Given the description of an element on the screen output the (x, y) to click on. 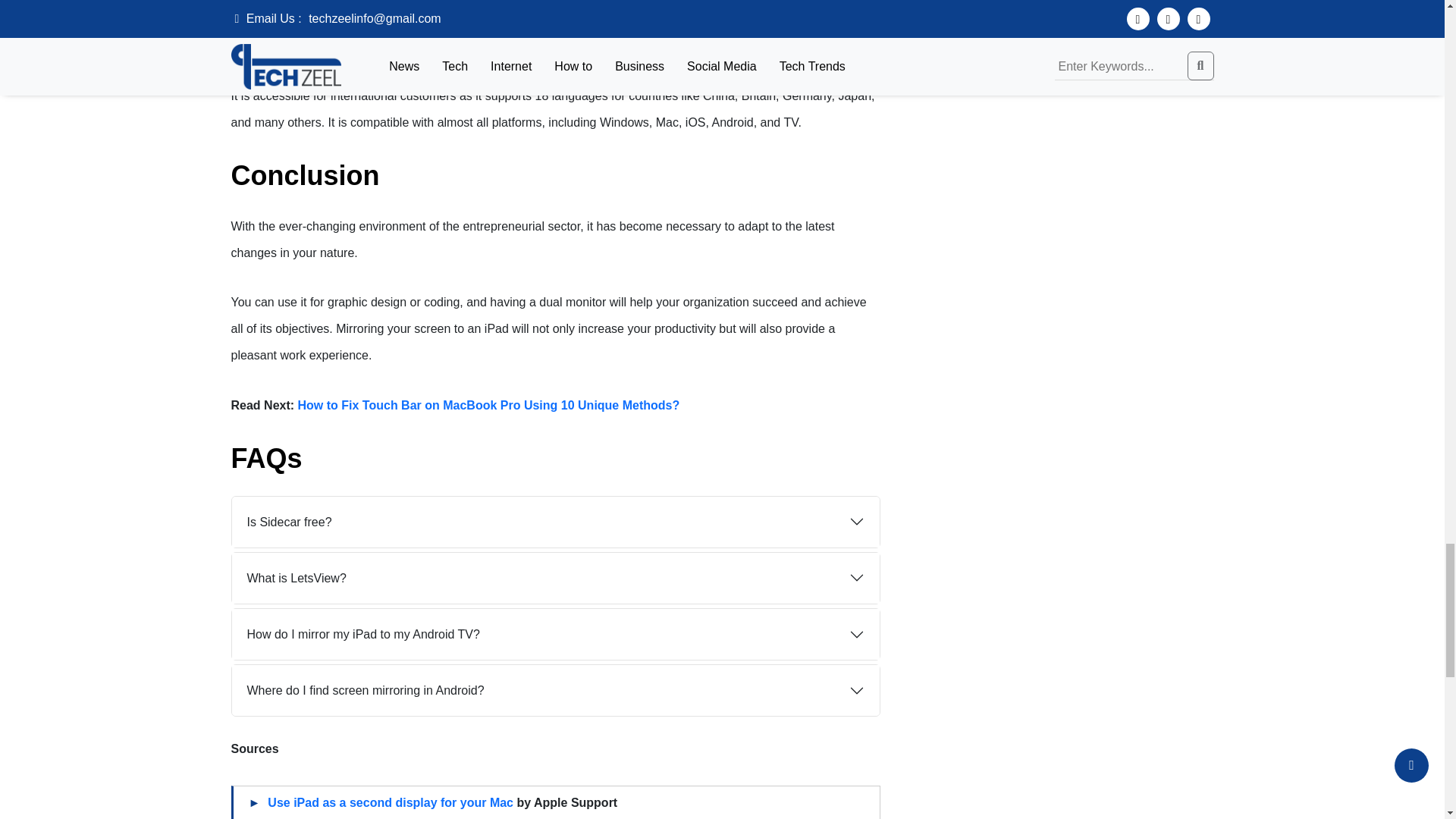
Use iPad as a second display for your Mac (390, 802)
How do I mirror my iPad to my Android TV? (555, 634)
How to Fix Touch Bar on MacBook Pro Using 10 Unique Methods? (488, 404)
What is LetsView? (555, 577)
Where do I find screen mirroring in Android? (555, 690)
Is Sidecar free? (555, 521)
